Given the description of an element on the screen output the (x, y) to click on. 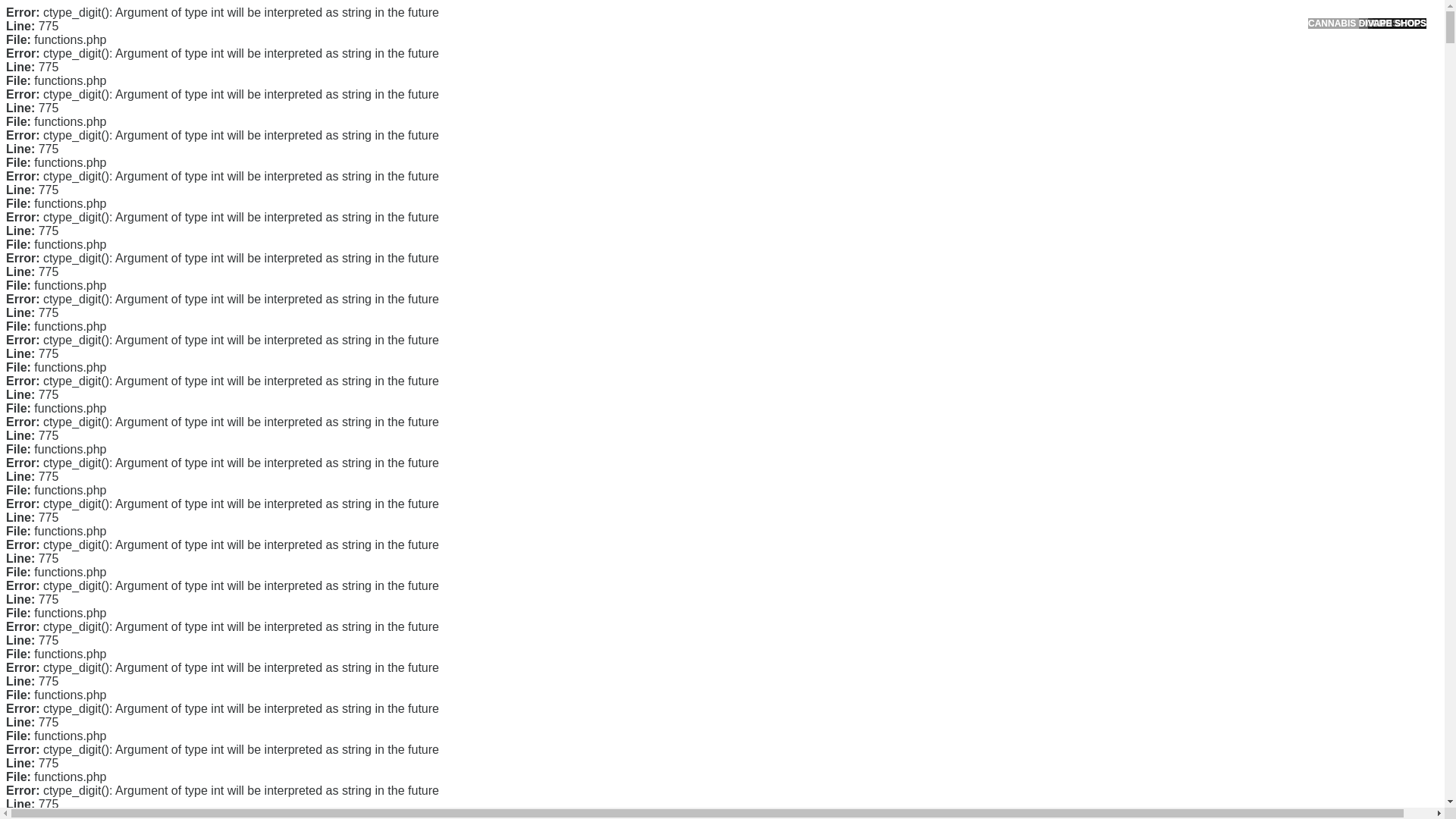
Search (1050, 85)
Skip to content (34, 9)
Log in (980, 588)
Disclaimer (990, 354)
Search (1050, 85)
Privacy Policy (999, 306)
Contact Us (991, 258)
Search (1050, 85)
Blog (976, 510)
hop over to here (394, 786)
directory (372, 506)
DMCA Policy (996, 282)
August 2020 (996, 432)
Latest Article (996, 172)
ADMINISTRATOR (417, 118)
